Given the description of an element on the screen output the (x, y) to click on. 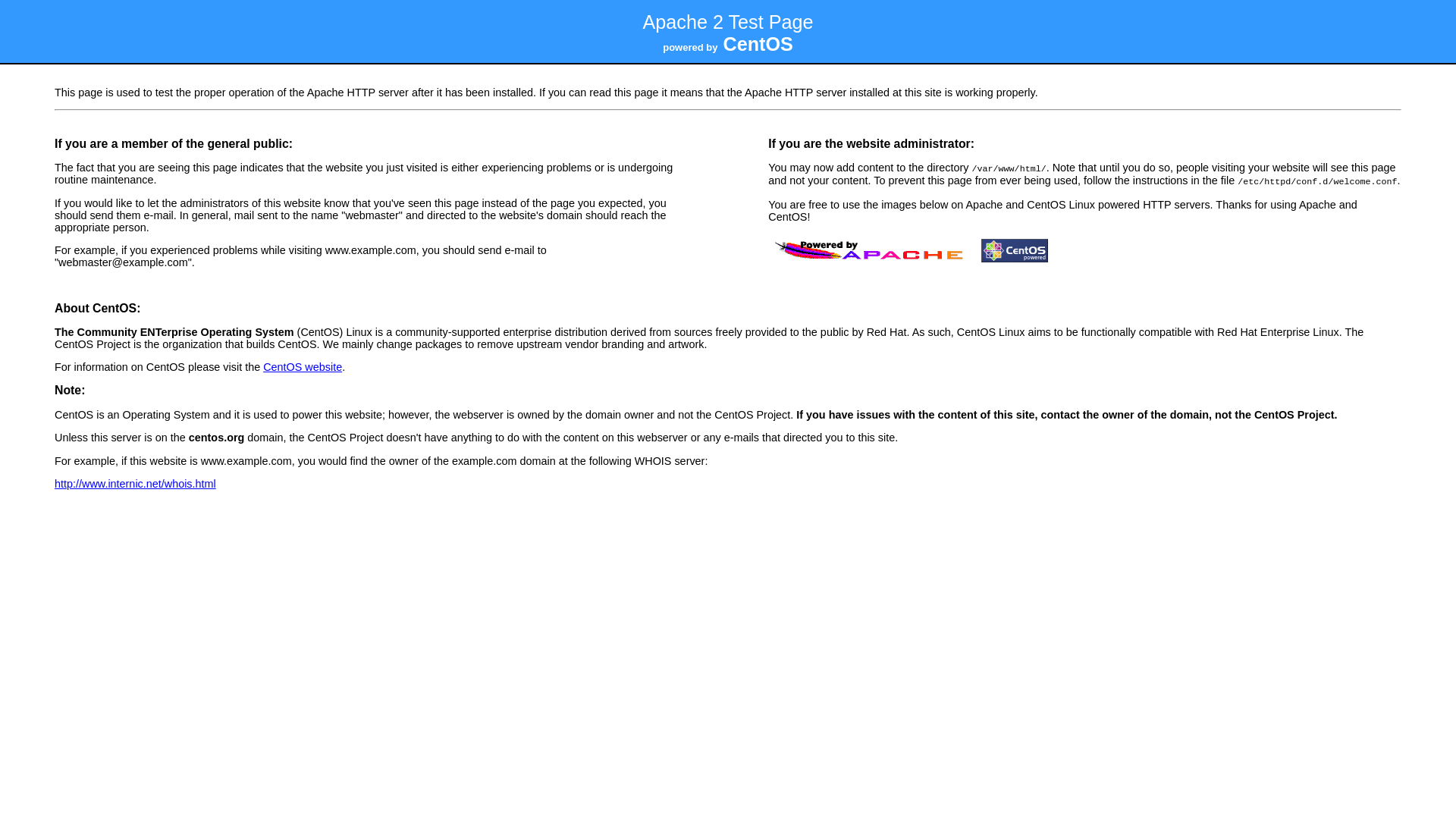
CentOS website (302, 367)
